Given the description of an element on the screen output the (x, y) to click on. 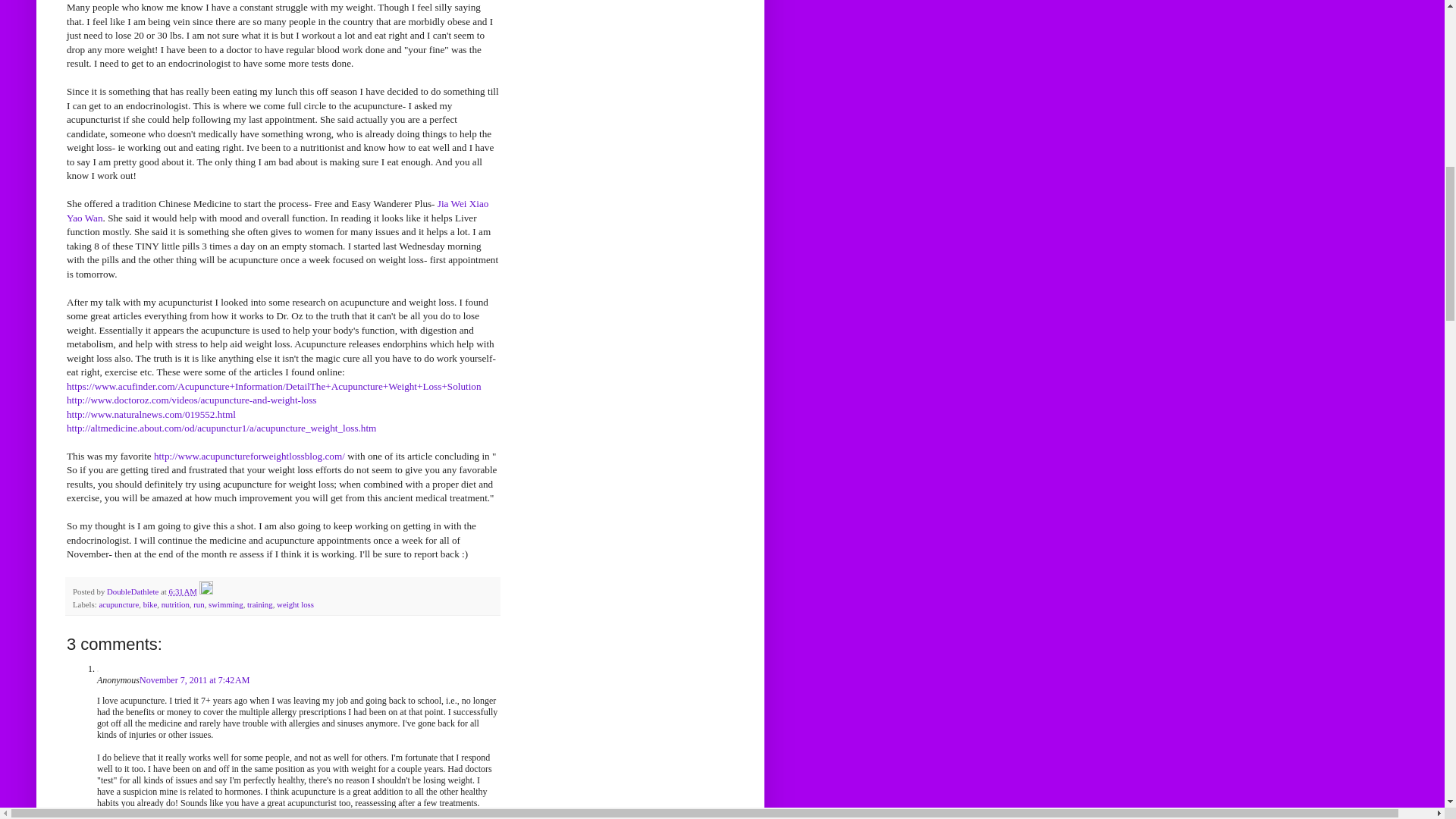
training (260, 604)
Edit Post (205, 591)
weight loss (295, 604)
nutrition (175, 604)
swimming (225, 604)
permanent link (182, 591)
acupuncture (118, 604)
bike (149, 604)
author profile (133, 591)
run (198, 604)
DoubleDathlete (133, 591)
Jia Wei Xiao Yao Wan (276, 210)
